Given the description of an element on the screen output the (x, y) to click on. 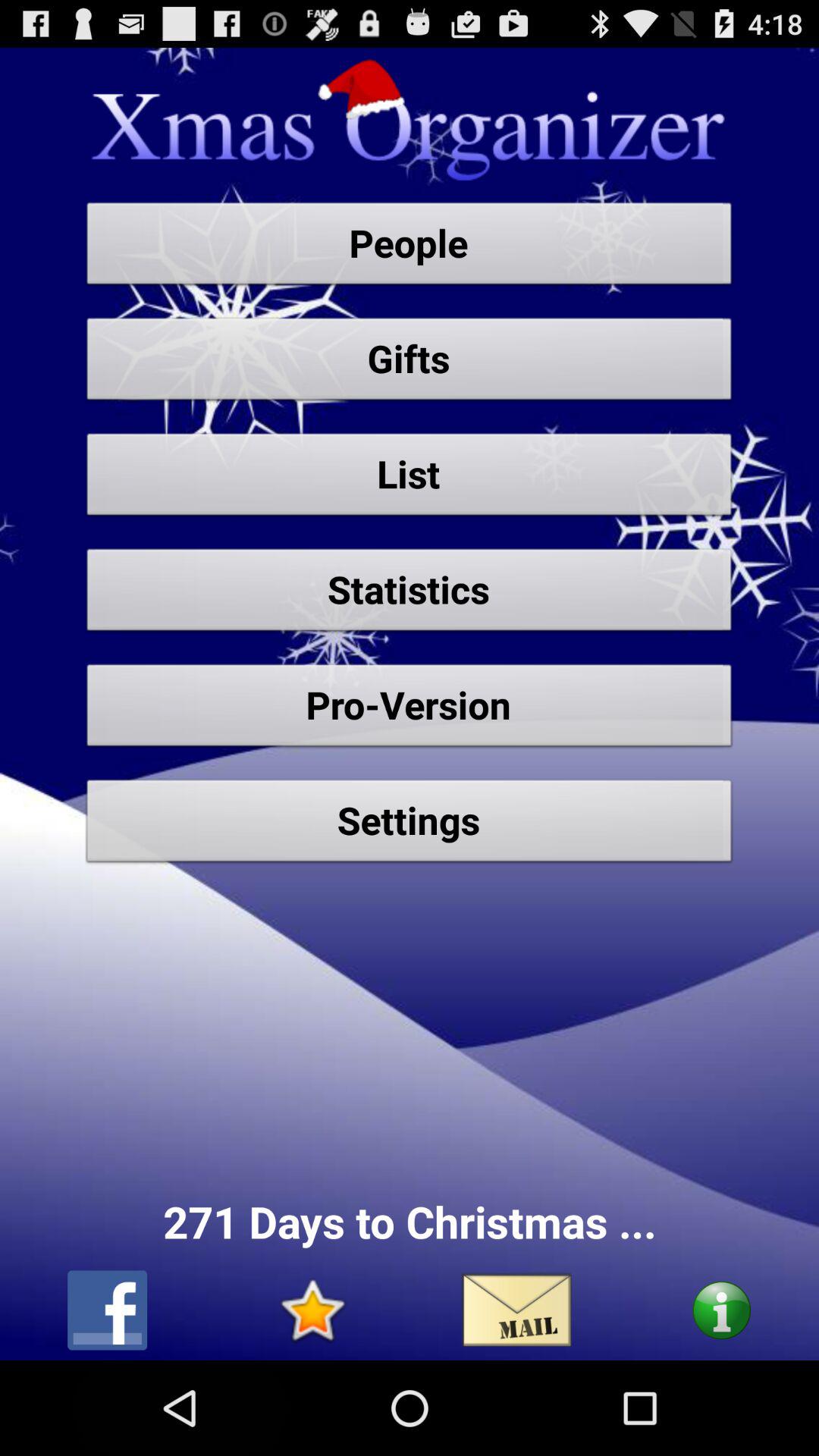
mail button (516, 1310)
